Given the description of an element on the screen output the (x, y) to click on. 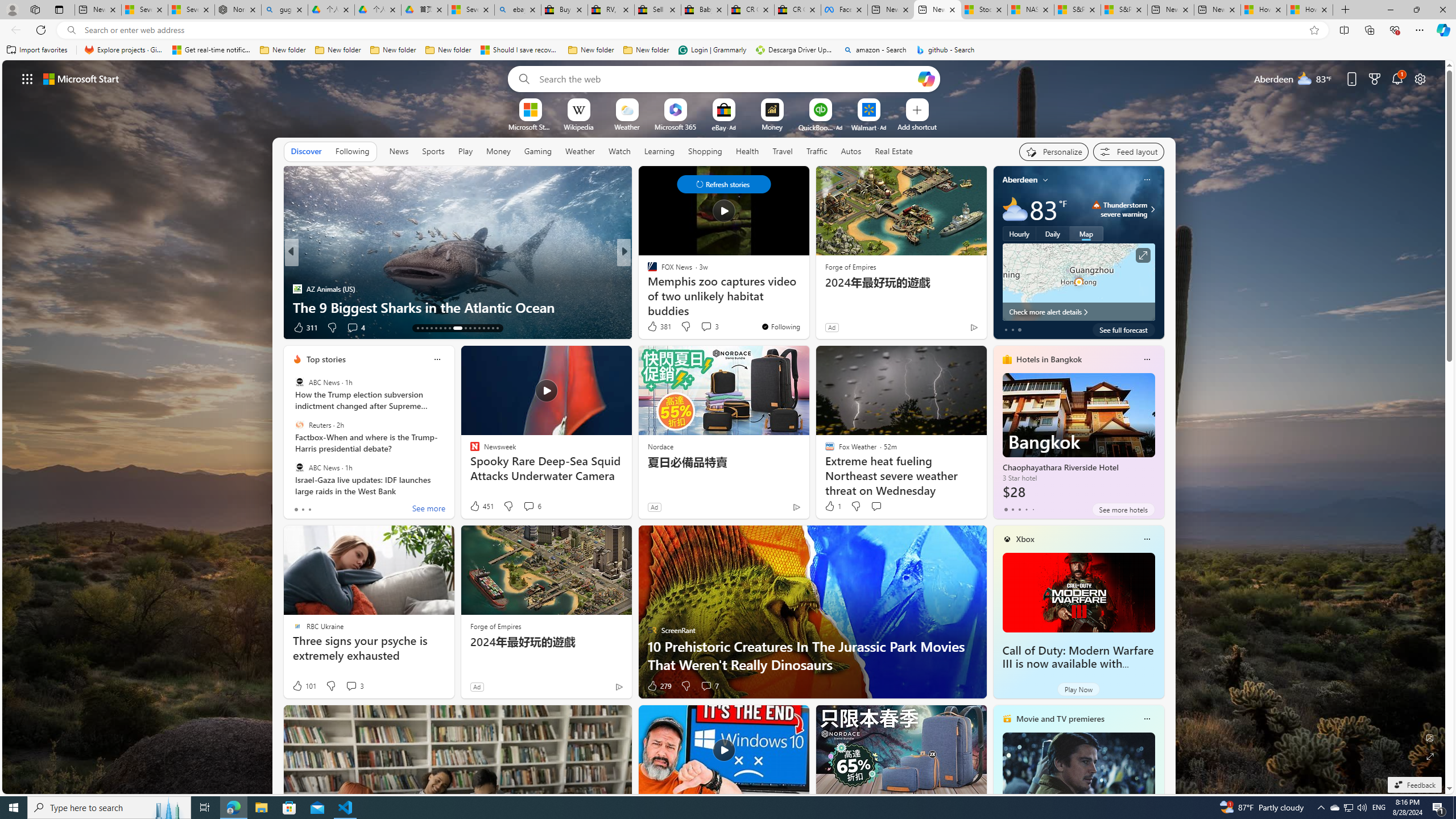
Check more alert details (1077, 311)
News (398, 151)
Import favorites (36, 49)
RV, Trailer & Camper Steps & Ladders for sale | eBay (610, 9)
Workspaces (34, 9)
Xbox (1025, 538)
AutomationID: tab-15 (426, 328)
Action News Jax (296, 288)
View comments 10 Comment (698, 327)
Aberdeen (1019, 179)
ebay - Search (517, 9)
Movie and TV premieres (1060, 718)
4-year-old accidentally shatters Bronze Age jar at museum (807, 298)
New tab (1216, 9)
